Given the description of an element on the screen output the (x, y) to click on. 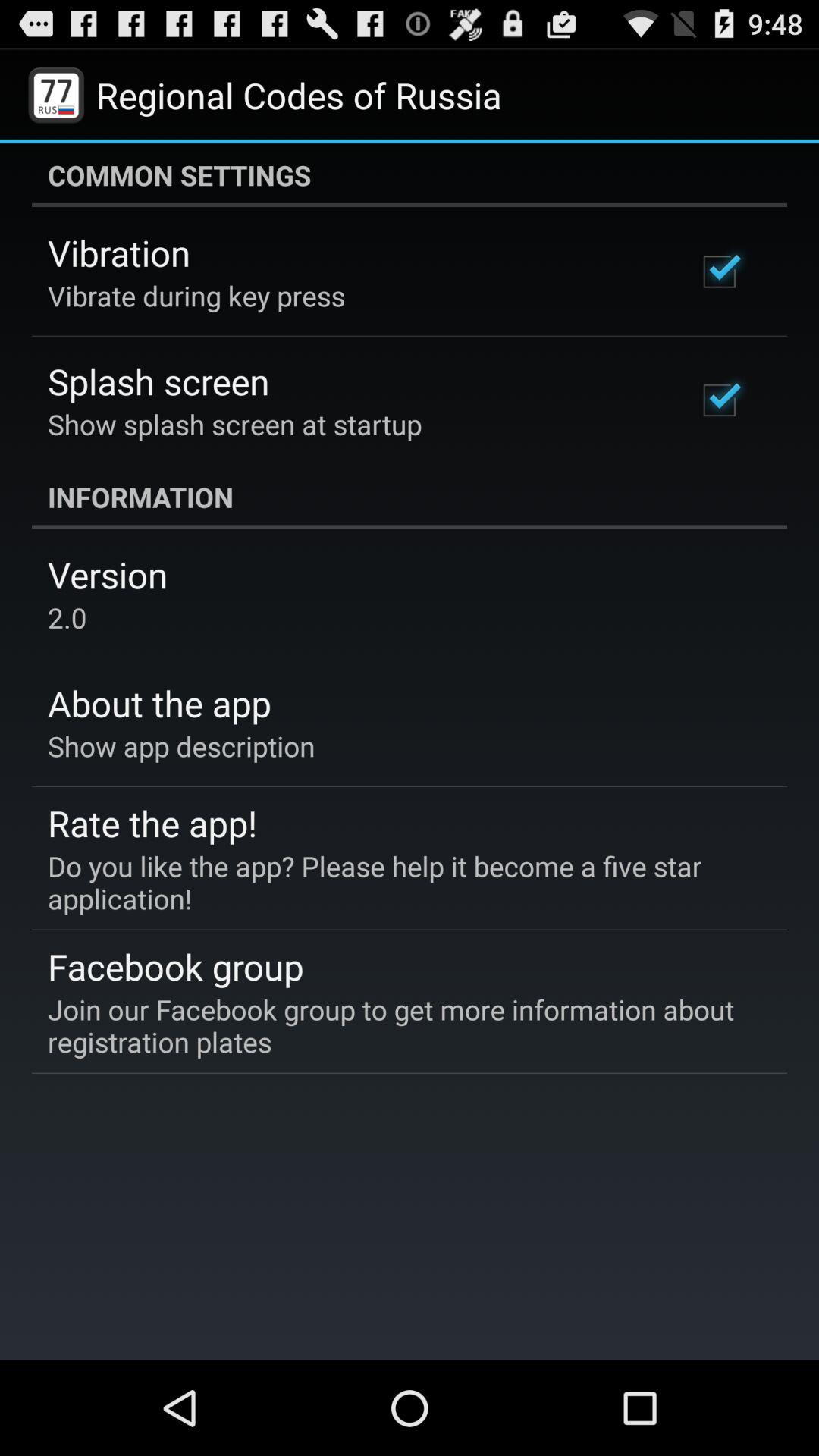
scroll to show app description app (181, 745)
